Given the description of an element on the screen output the (x, y) to click on. 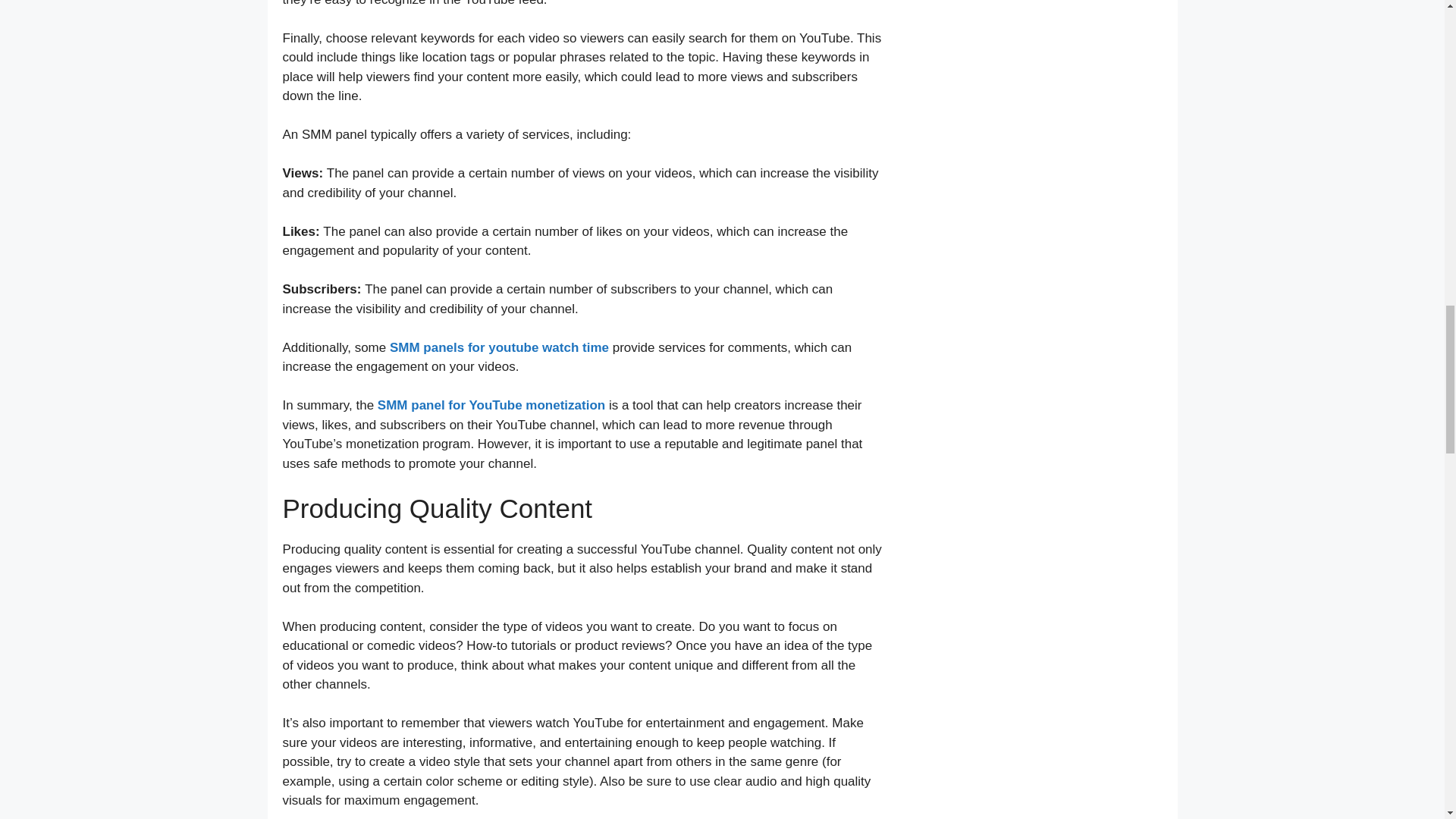
SMM panel for YouTube monetization (491, 405)
SMM panels for youtube watch time (499, 347)
